Given the description of an element on the screen output the (x, y) to click on. 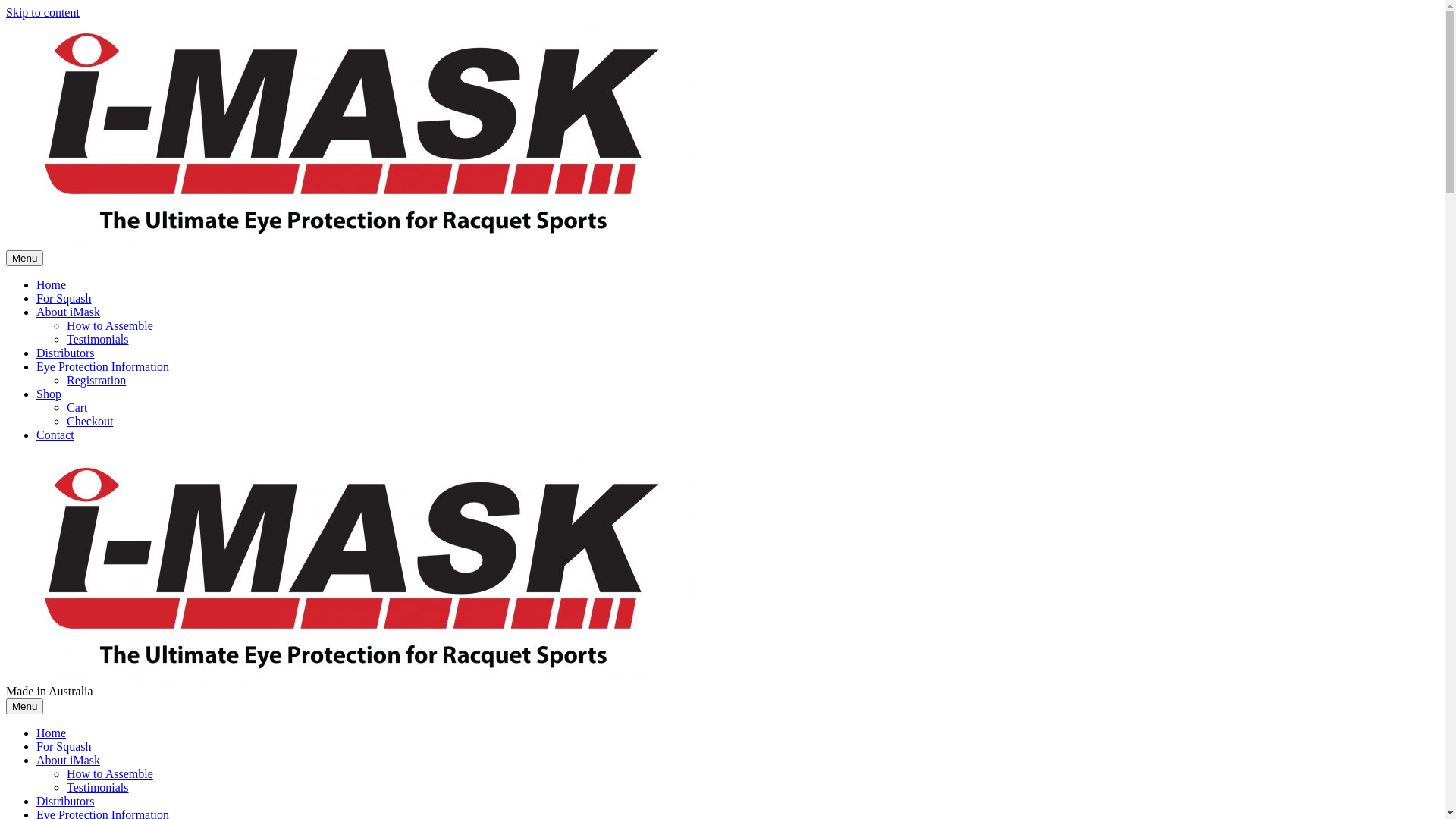
Skip to content Element type: text (42, 12)
For Squash Element type: text (63, 297)
Registration Element type: text (95, 379)
How to Assemble Element type: text (109, 325)
Distributors Element type: text (65, 352)
About iMask Element type: text (68, 759)
For Squash Element type: text (63, 746)
Testimonials Element type: text (97, 338)
About iMask Element type: text (68, 311)
Contact Element type: text (55, 434)
Cart Element type: text (76, 407)
Menu Element type: text (24, 258)
Testimonials Element type: text (97, 787)
Home Element type: text (50, 284)
Checkout Element type: text (89, 420)
How to Assemble Element type: text (109, 773)
Eye Protection Information Element type: text (102, 366)
Distributors Element type: text (65, 800)
Home Element type: text (50, 732)
Menu Element type: text (24, 706)
Shop Element type: text (48, 393)
